Given the description of an element on the screen output the (x, y) to click on. 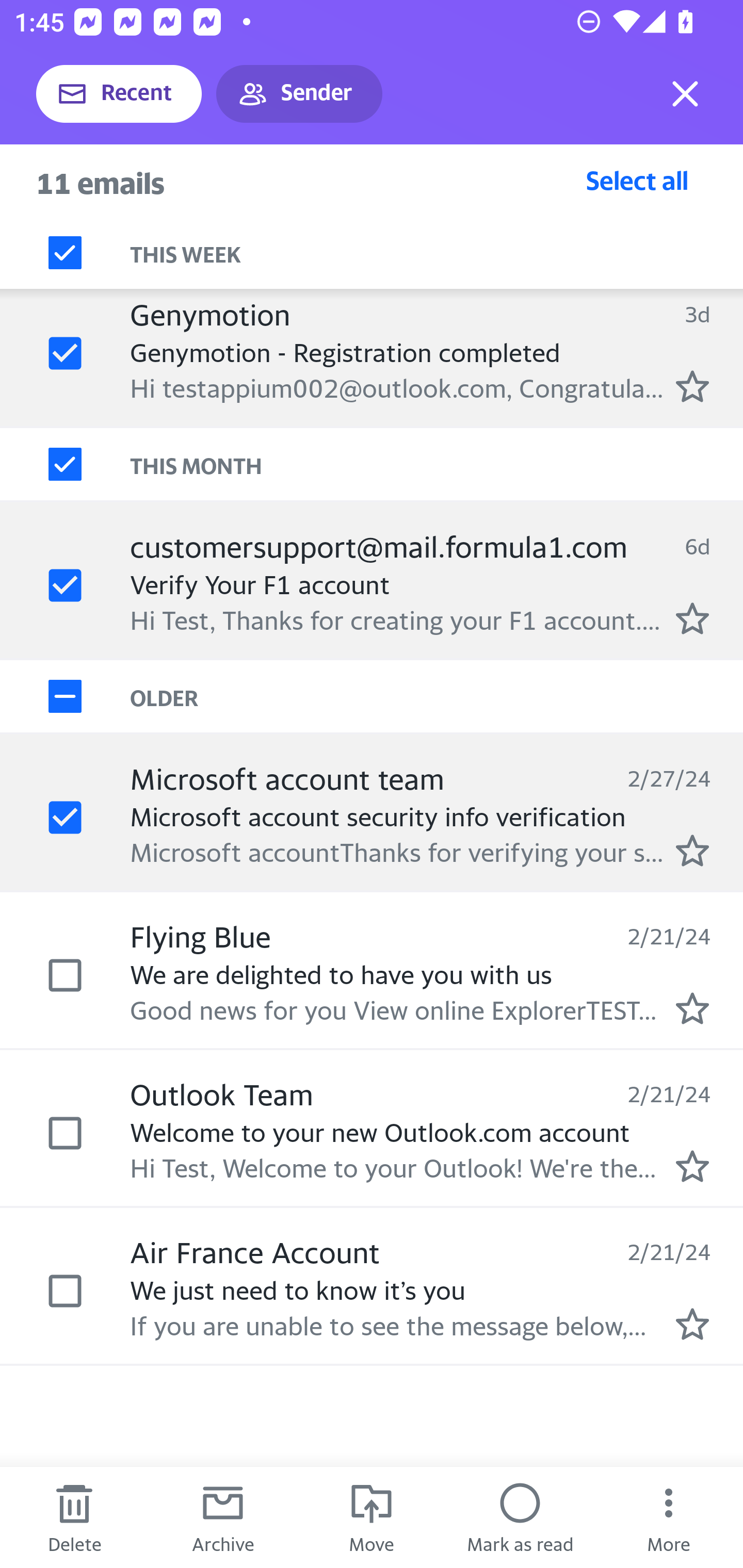
Sender (299, 93)
Exit selection mode (684, 93)
Select all (637, 180)
Mark as starred. (692, 386)
THIS MONTH (436, 464)
Mark as starred. (692, 618)
OLDER (436, 696)
Mark as starred. (692, 850)
Mark as starred. (692, 1008)
Mark as starred. (692, 1165)
Mark as starred. (692, 1324)
Delete (74, 1517)
Archive (222, 1517)
Move (371, 1517)
Mark as read (519, 1517)
More (668, 1517)
